Given the description of an element on the screen output the (x, y) to click on. 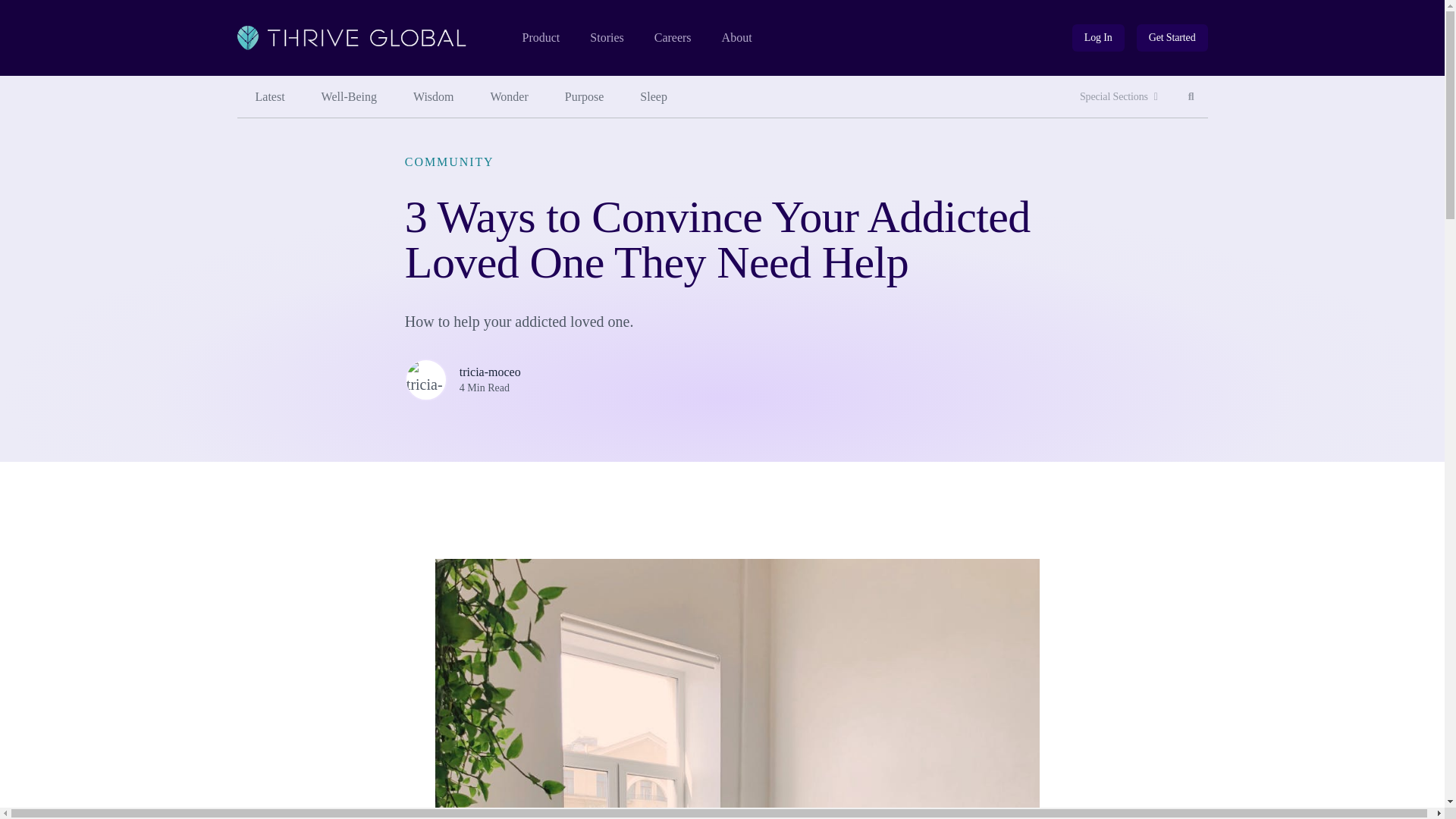
Stories (606, 37)
Get Started (1172, 37)
Wisdom (432, 96)
btn-primary (1172, 37)
Careers (672, 37)
Product (540, 37)
Well-Being (1191, 97)
Latest (348, 96)
Special Sections (268, 96)
